Given the description of an element on the screen output the (x, y) to click on. 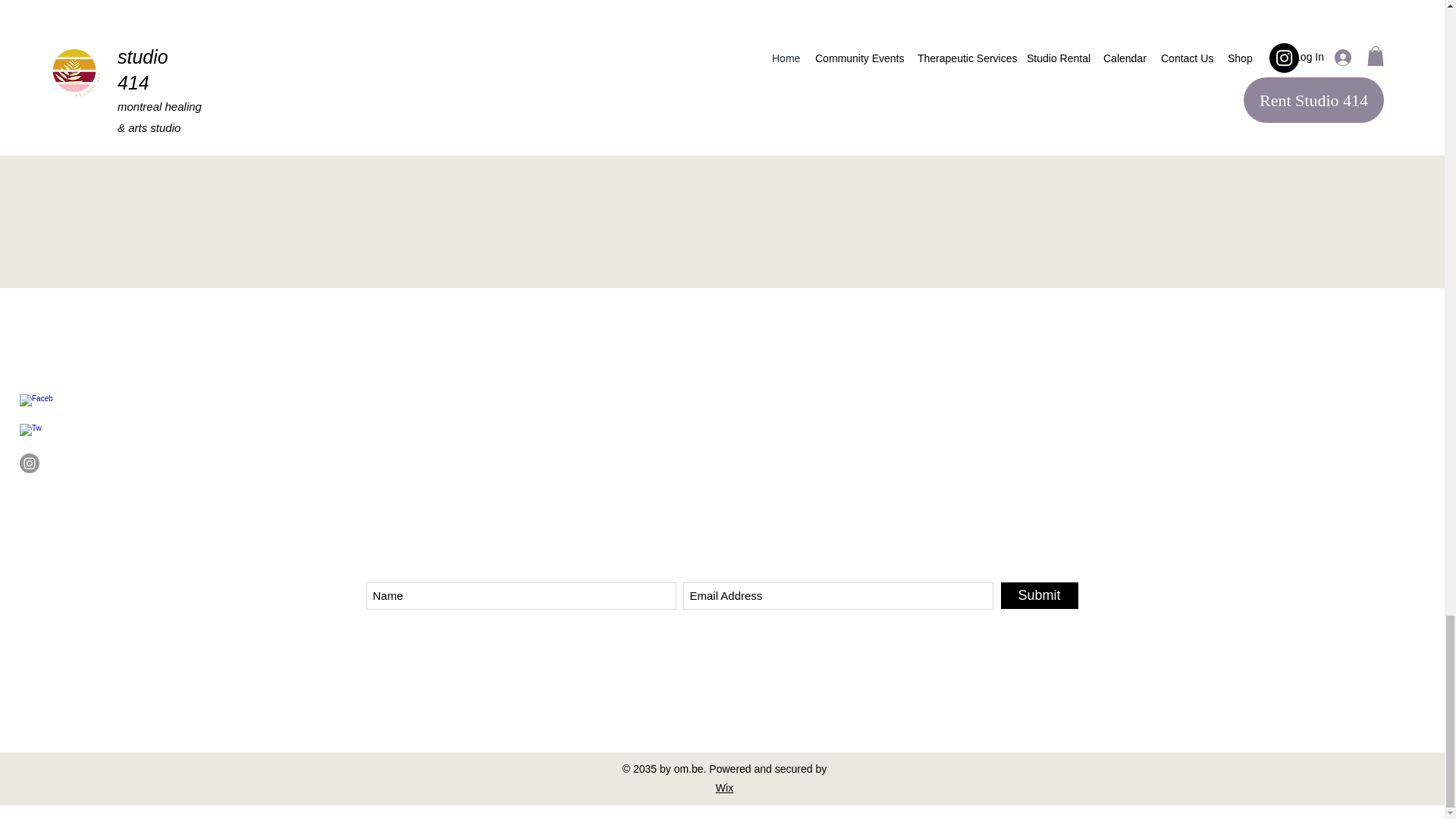
Submit (1039, 595)
Wix (724, 787)
